Given the description of an element on the screen output the (x, y) to click on. 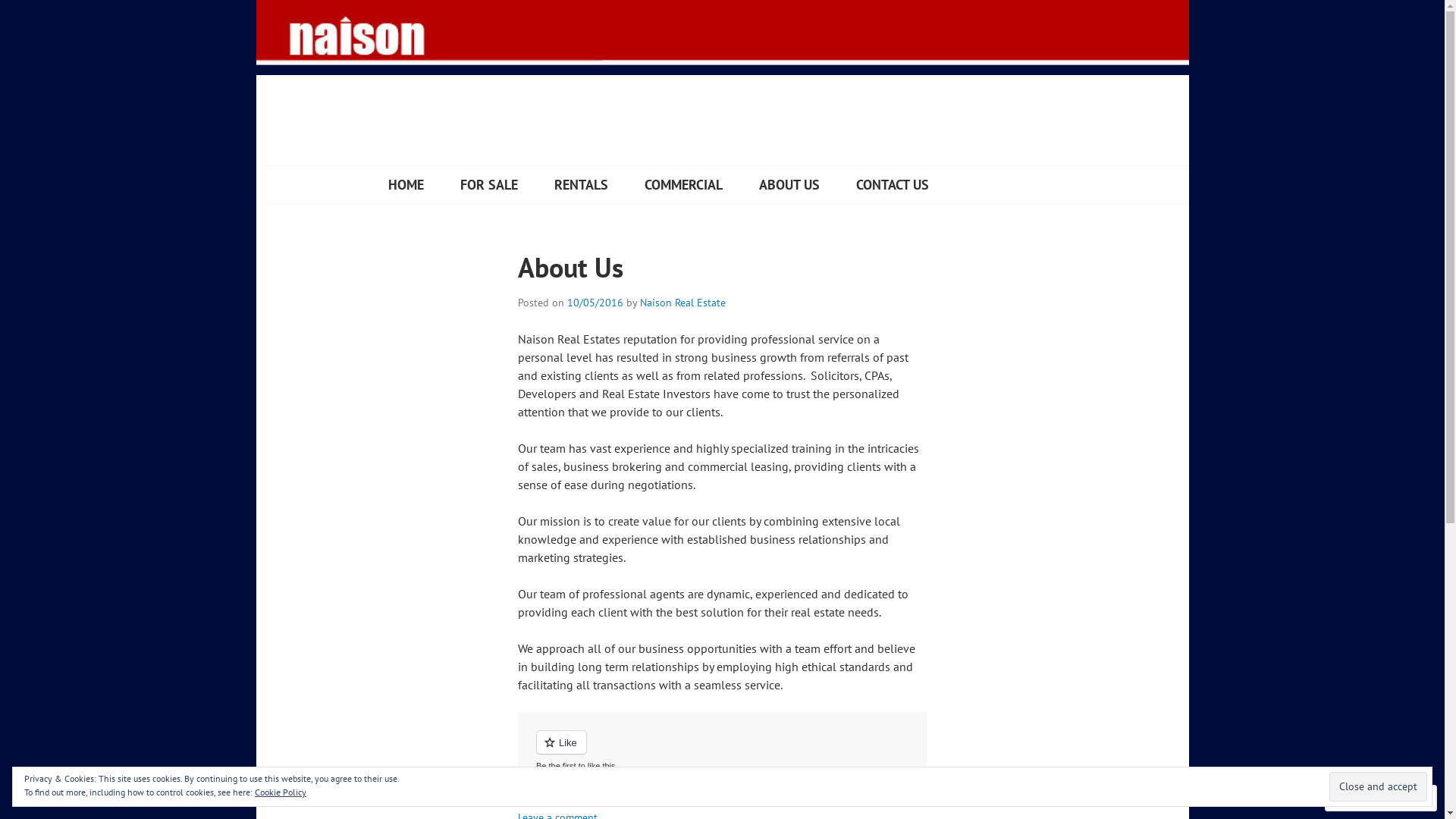
Close and accept Element type: text (1378, 786)
HOME Element type: text (406, 184)
FOR SALE Element type: text (488, 184)
10/05/2016 Element type: text (595, 302)
Naison Real Estate Element type: text (682, 302)
COMMERCIAL Element type: text (683, 184)
Cookie Policy Element type: text (280, 791)
RENTALS Element type: text (580, 184)
CONTACT US Element type: text (891, 184)
Comment Element type: text (1366, 797)
NAISON.COM.AU Element type: text (467, 168)
Like or Reblog Element type: hover (721, 750)
ABOUT US Element type: text (788, 184)
